Given the description of an element on the screen output the (x, y) to click on. 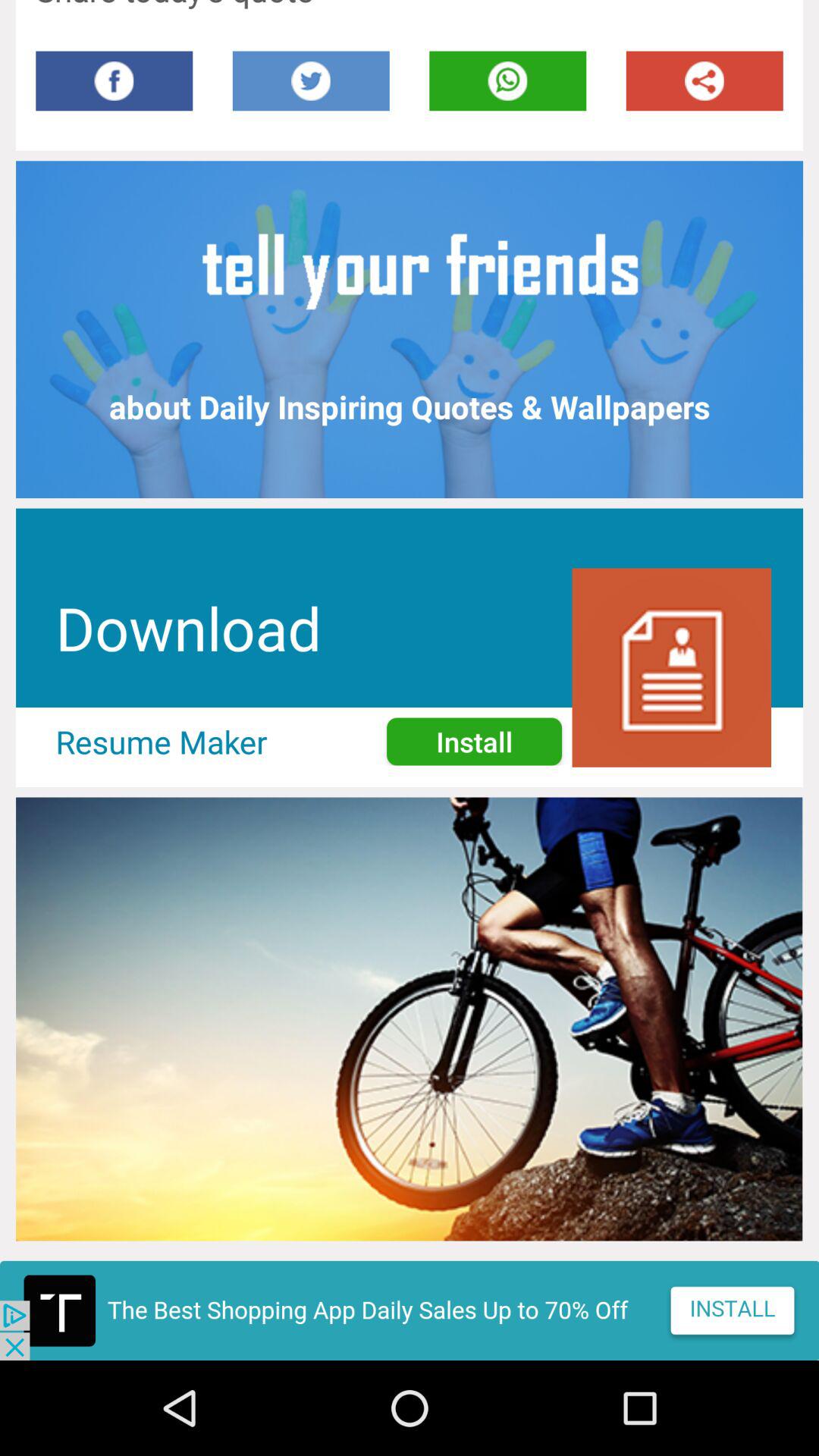
share the article (704, 80)
